Given the description of an element on the screen output the (x, y) to click on. 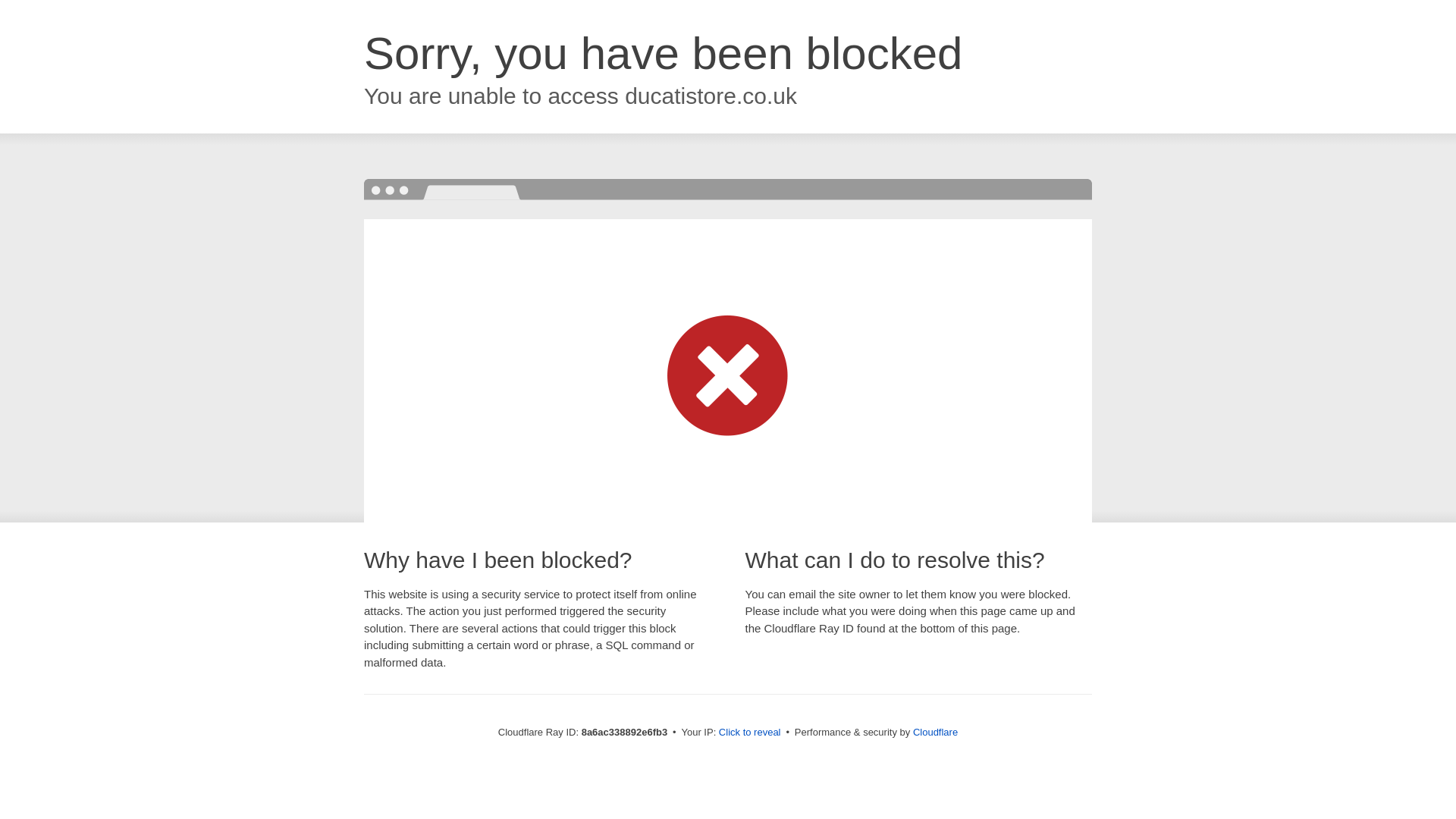
Click to reveal (749, 732)
Cloudflare (935, 731)
